Given the description of an element on the screen output the (x, y) to click on. 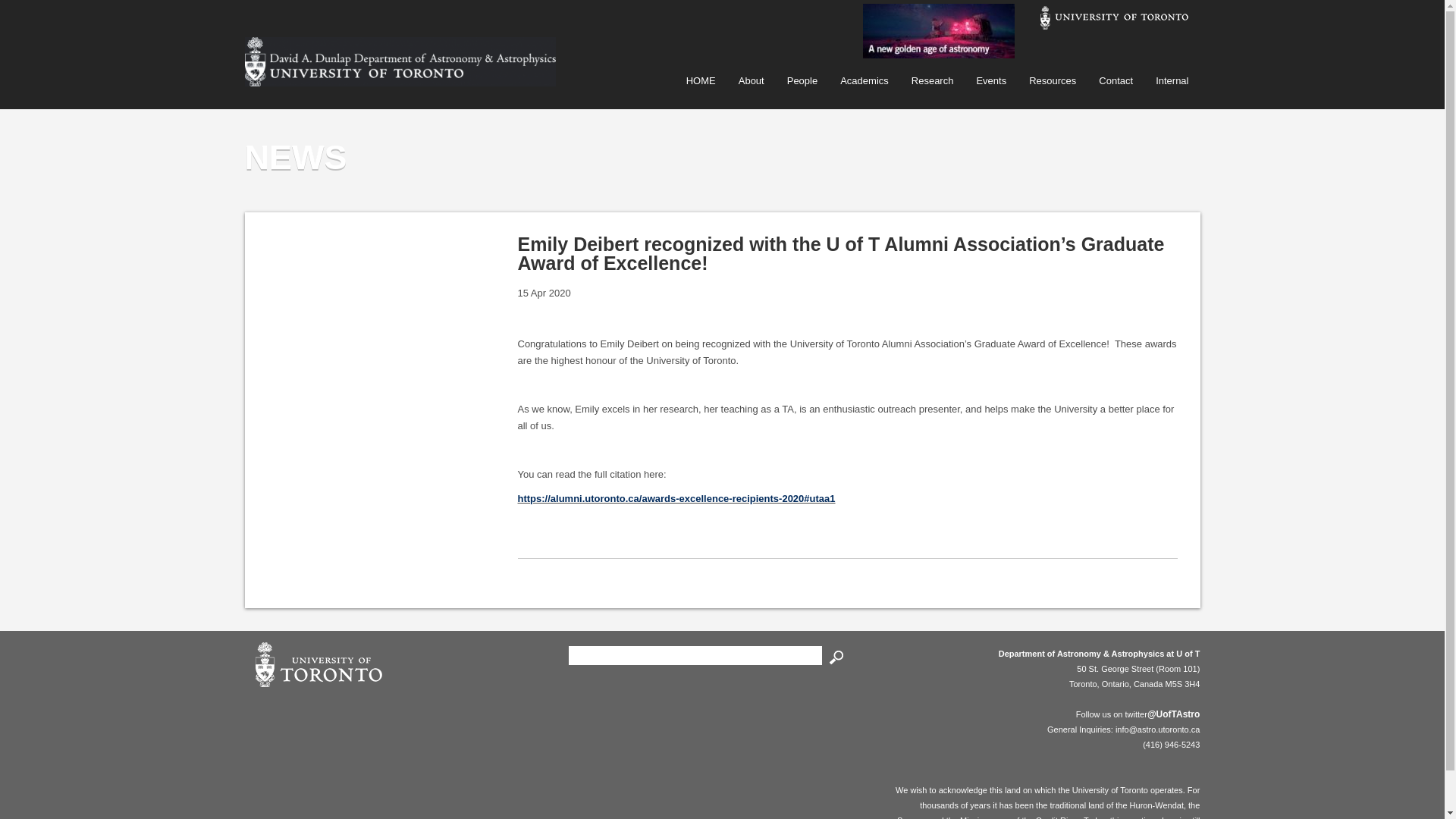
Research (932, 80)
HOME (700, 80)
Internal (1171, 80)
About (751, 80)
Search (836, 657)
People (802, 80)
Academics (863, 80)
Events (990, 80)
Resources (1052, 80)
Contact (1115, 80)
